Given the description of an element on the screen output the (x, y) to click on. 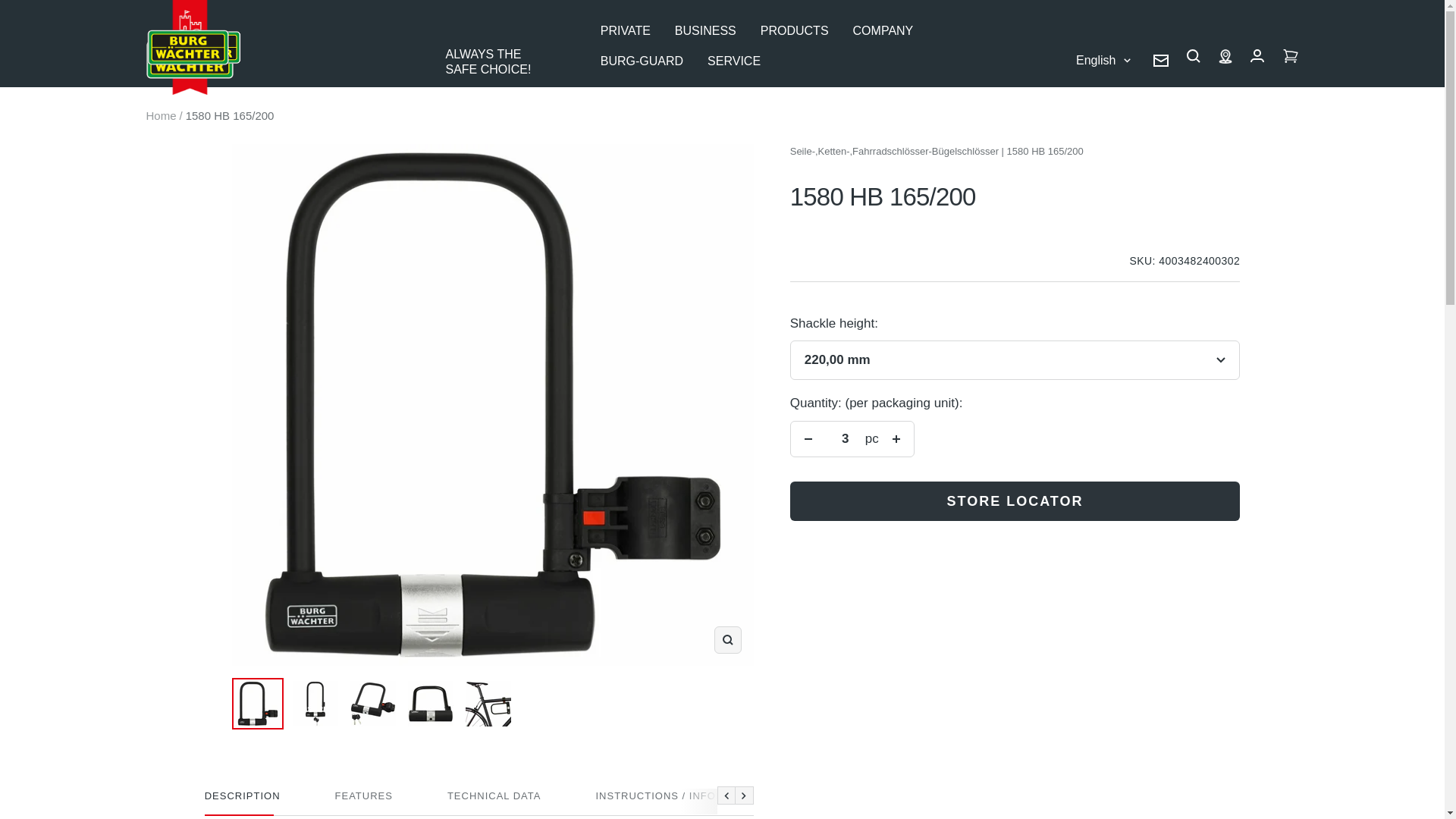
SERVICE (733, 61)
BURG-GUARD (640, 61)
nl (1084, 142)
PRIVATE (624, 30)
PRODUCTS (794, 30)
BUSINESS (705, 30)
en (1084, 169)
de (1084, 115)
Home (160, 115)
English (1102, 59)
Zoom (727, 639)
fr (1084, 198)
COMPANY (883, 30)
3 (844, 438)
